Given the description of an element on the screen output the (x, y) to click on. 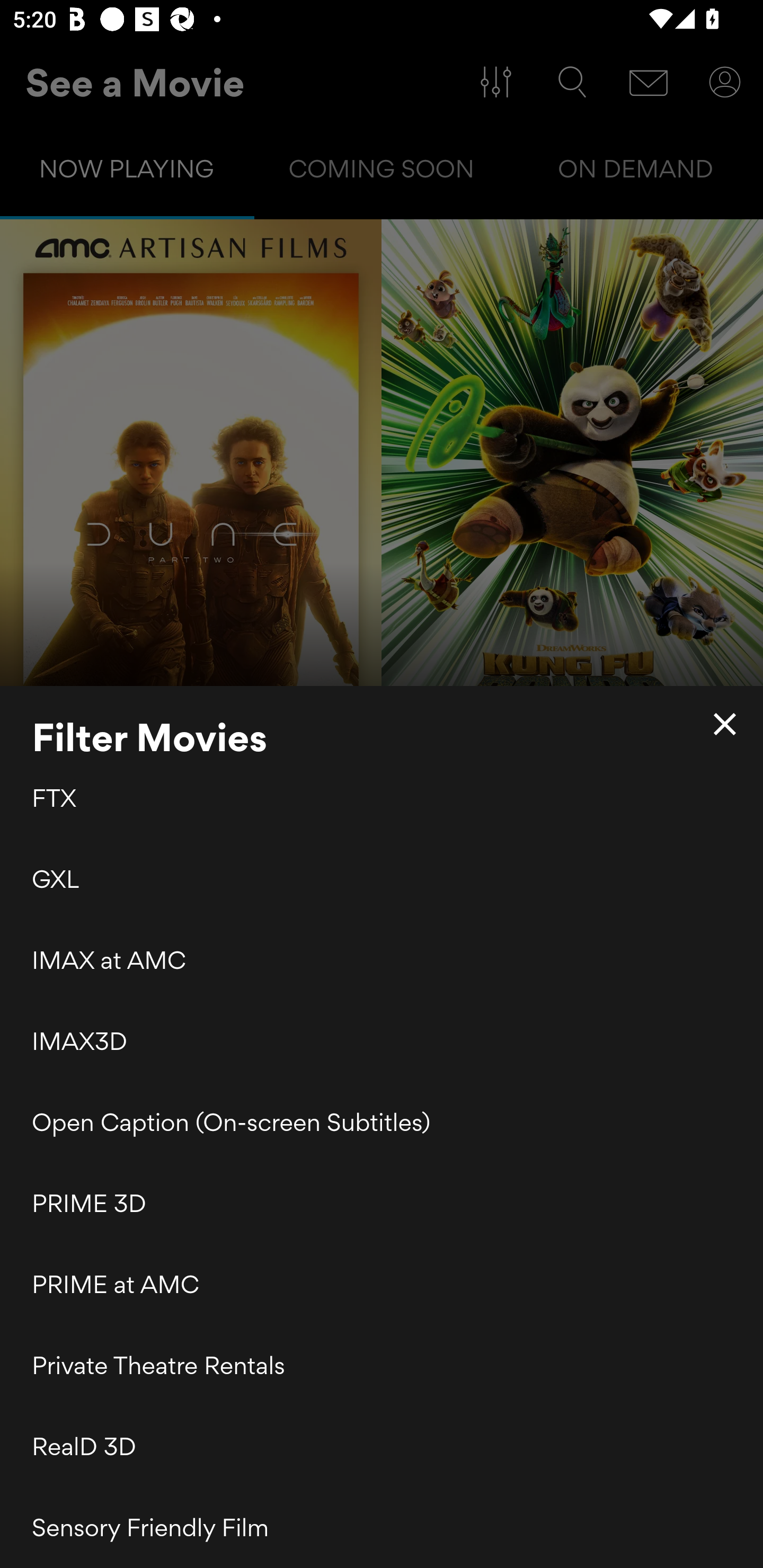
Close (724, 724)
FTX (381, 800)
GXL (381, 878)
IMAX at AMC (381, 959)
IMAX3D (381, 1040)
Open Caption (On-screen Subtitles) (381, 1122)
PRIME 3D (381, 1203)
PRIME at AMC (381, 1283)
Private Theatre Rentals (381, 1365)
RealD 3D (381, 1446)
Sensory Friendly Film (381, 1527)
